Given the description of an element on the screen output the (x, y) to click on. 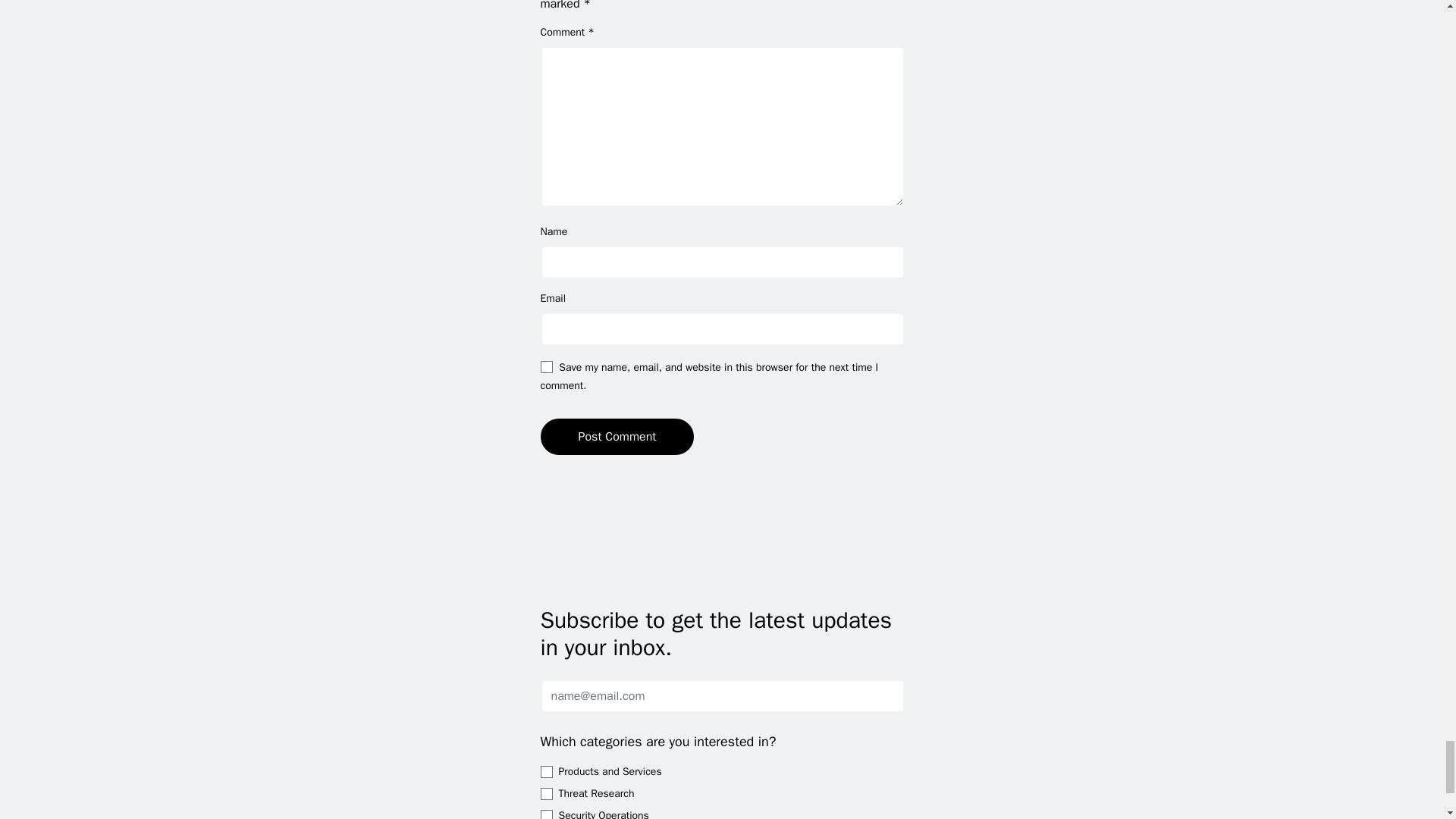
security-operations (545, 814)
threat-research (545, 793)
Post Comment (617, 436)
yes (545, 367)
products-services (545, 771)
